Given the description of an element on the screen output the (x, y) to click on. 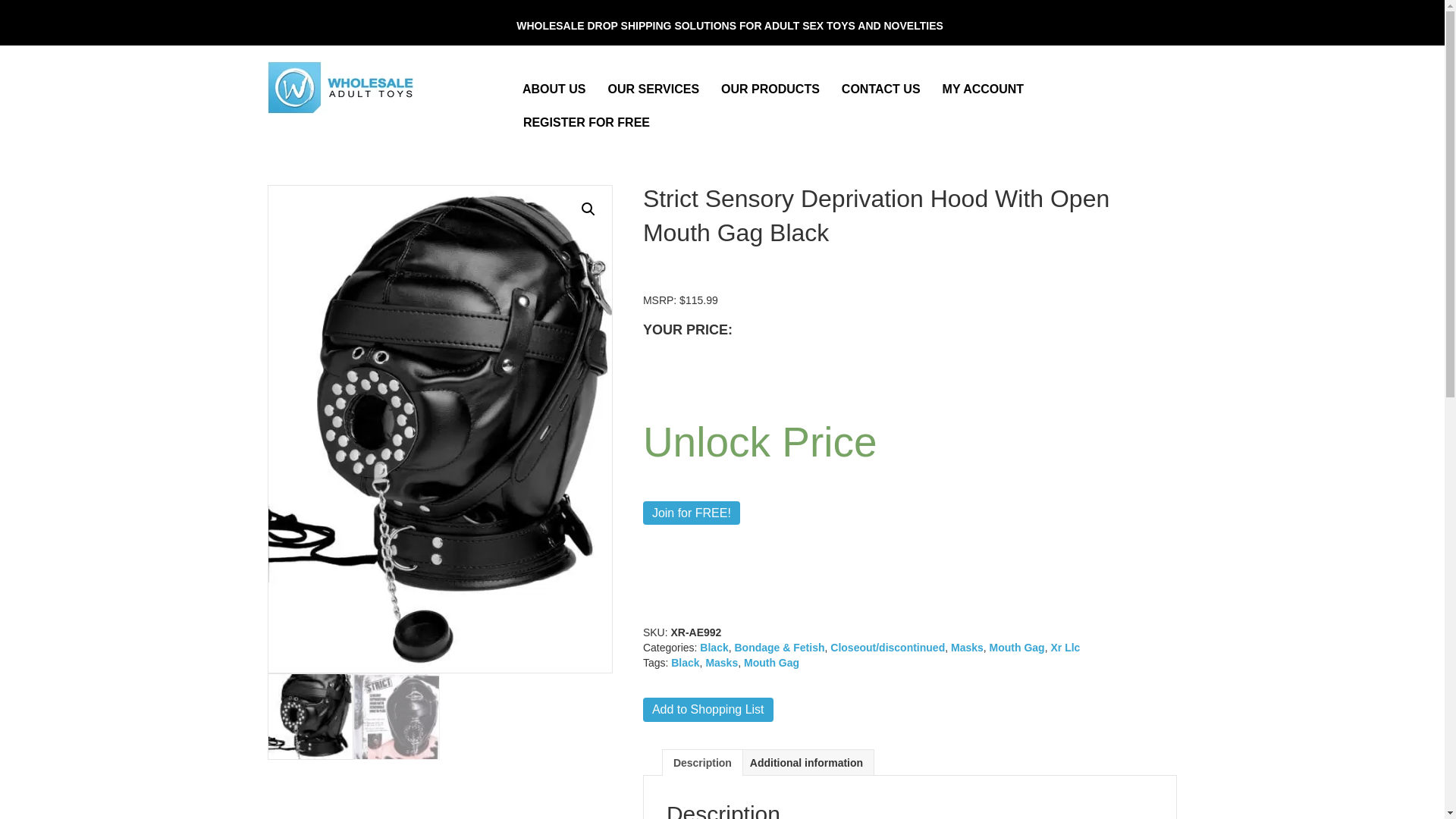
CONTACT US (881, 89)
OUR SERVICES (653, 89)
Join for FREE! (691, 512)
REGISTER FOR FREE (586, 122)
Black (714, 647)
Mouth Gag (1017, 647)
ABOUT US (554, 89)
OUR PRODUCTS (769, 89)
MY ACCOUNT (983, 89)
Masks (967, 647)
Wholesale Adult Toys (342, 86)
